Given the description of an element on the screen output the (x, y) to click on. 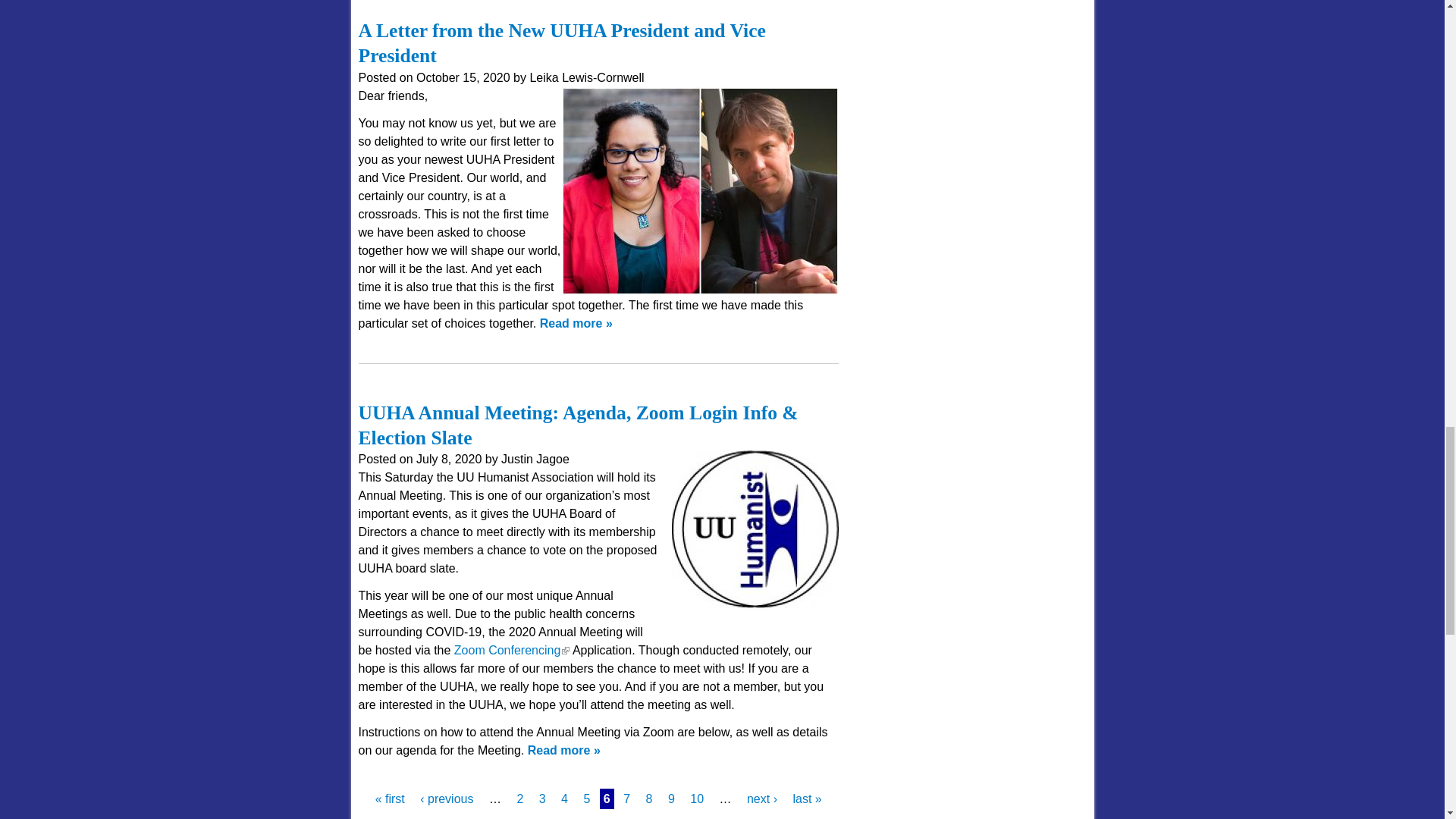
Go to first page (389, 798)
A Letter from the New UUHA President and Vice President (561, 42)
Go to previous page (446, 798)
10 (696, 798)
